Given the description of an element on the screen output the (x, y) to click on. 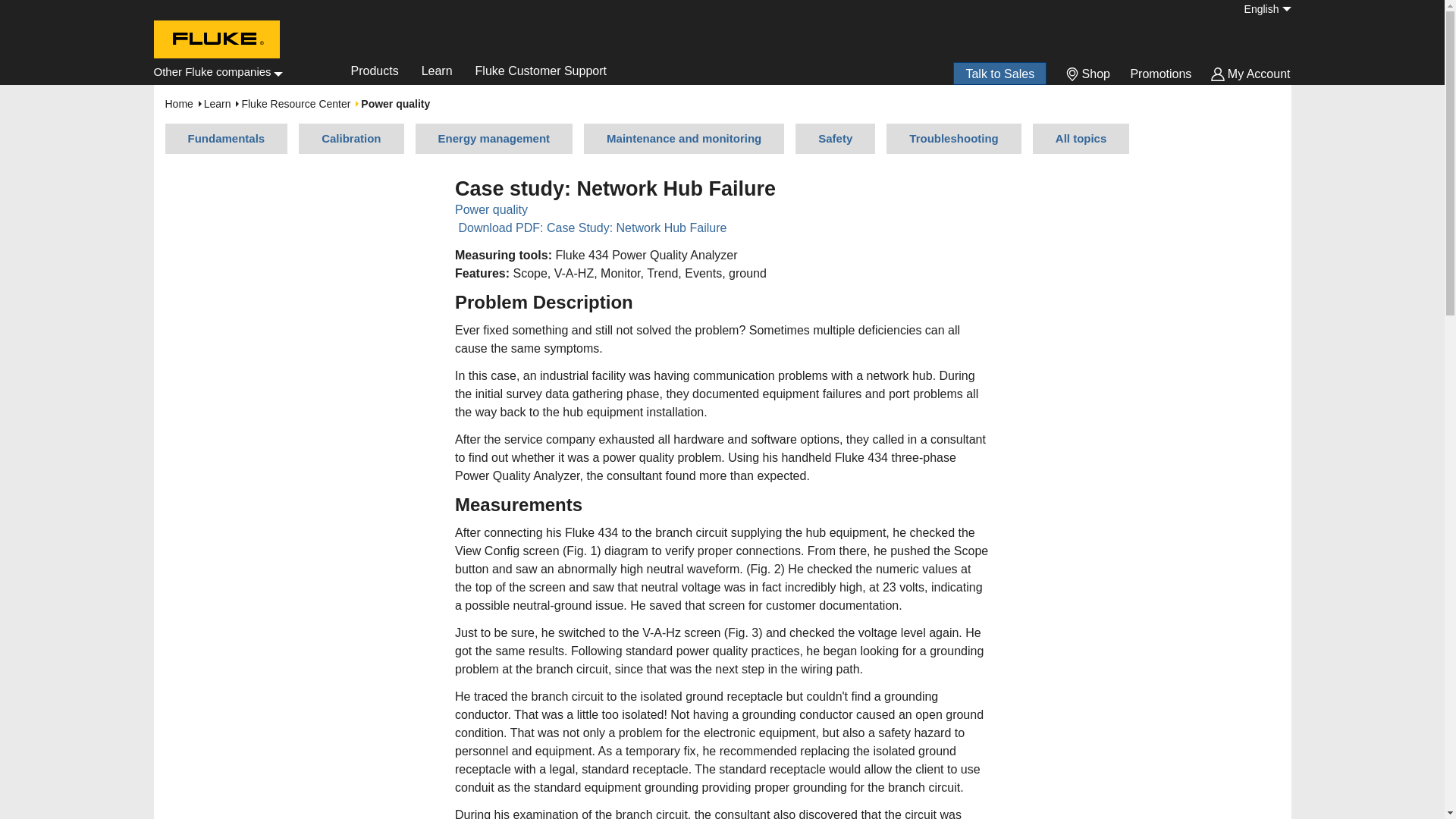
Other Fluke companies (217, 71)
Products (374, 73)
English (1259, 9)
Home (215, 41)
Home (213, 72)
Fluke (213, 72)
